Given the description of an element on the screen output the (x, y) to click on. 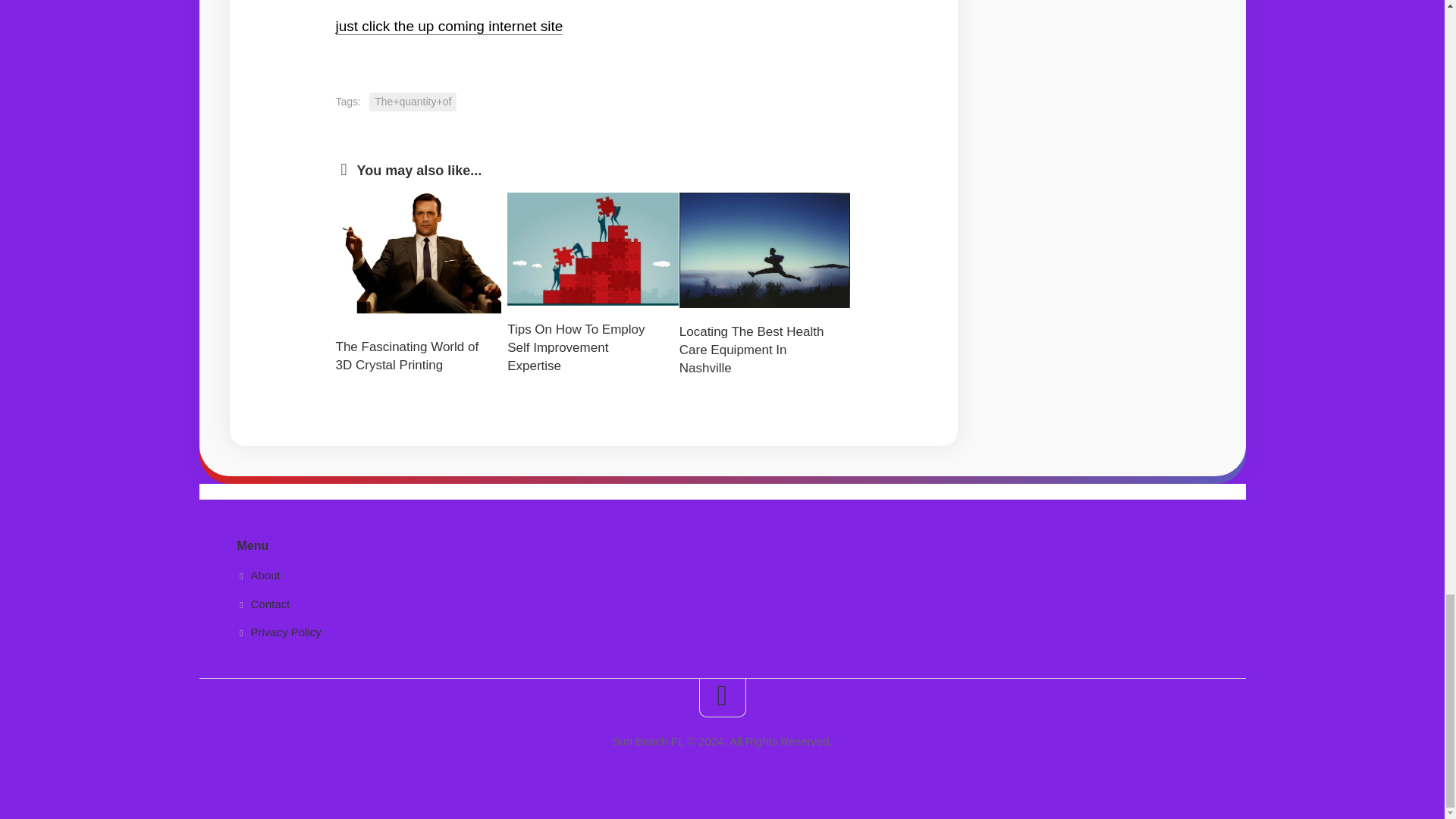
just click the up coming internet site (448, 26)
The Fascinating World of 3D Crystal Printing (406, 355)
Locating The Best Health Care Equipment In Nashville (751, 349)
Tips On How To Employ Self Improvement Expertise (575, 347)
